Given the description of an element on the screen output the (x, y) to click on. 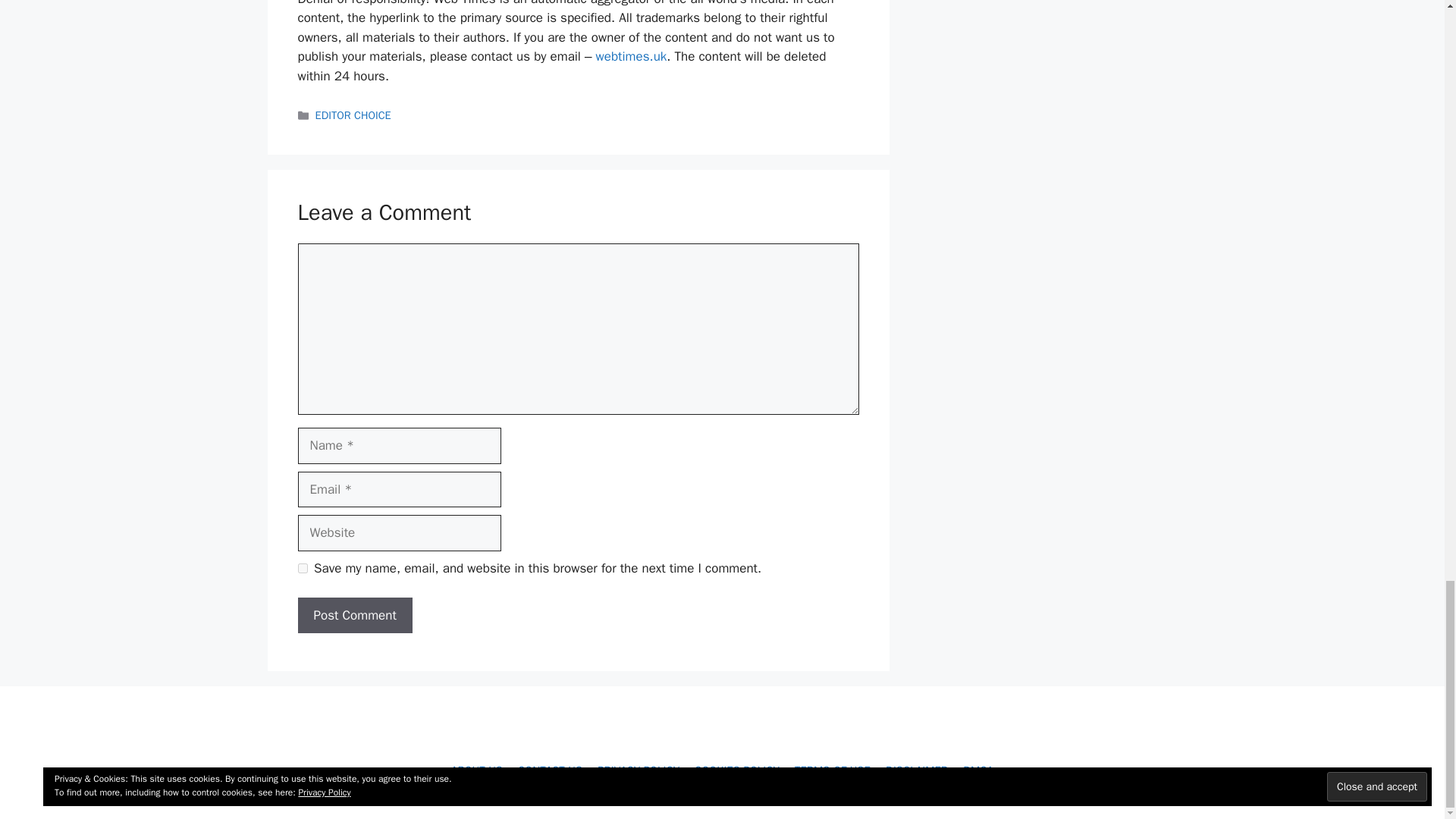
EDITOR CHOICE (353, 115)
Post Comment (354, 615)
webtimes.uk (630, 56)
yes (302, 568)
Post Comment (354, 615)
